Given the description of an element on the screen output the (x, y) to click on. 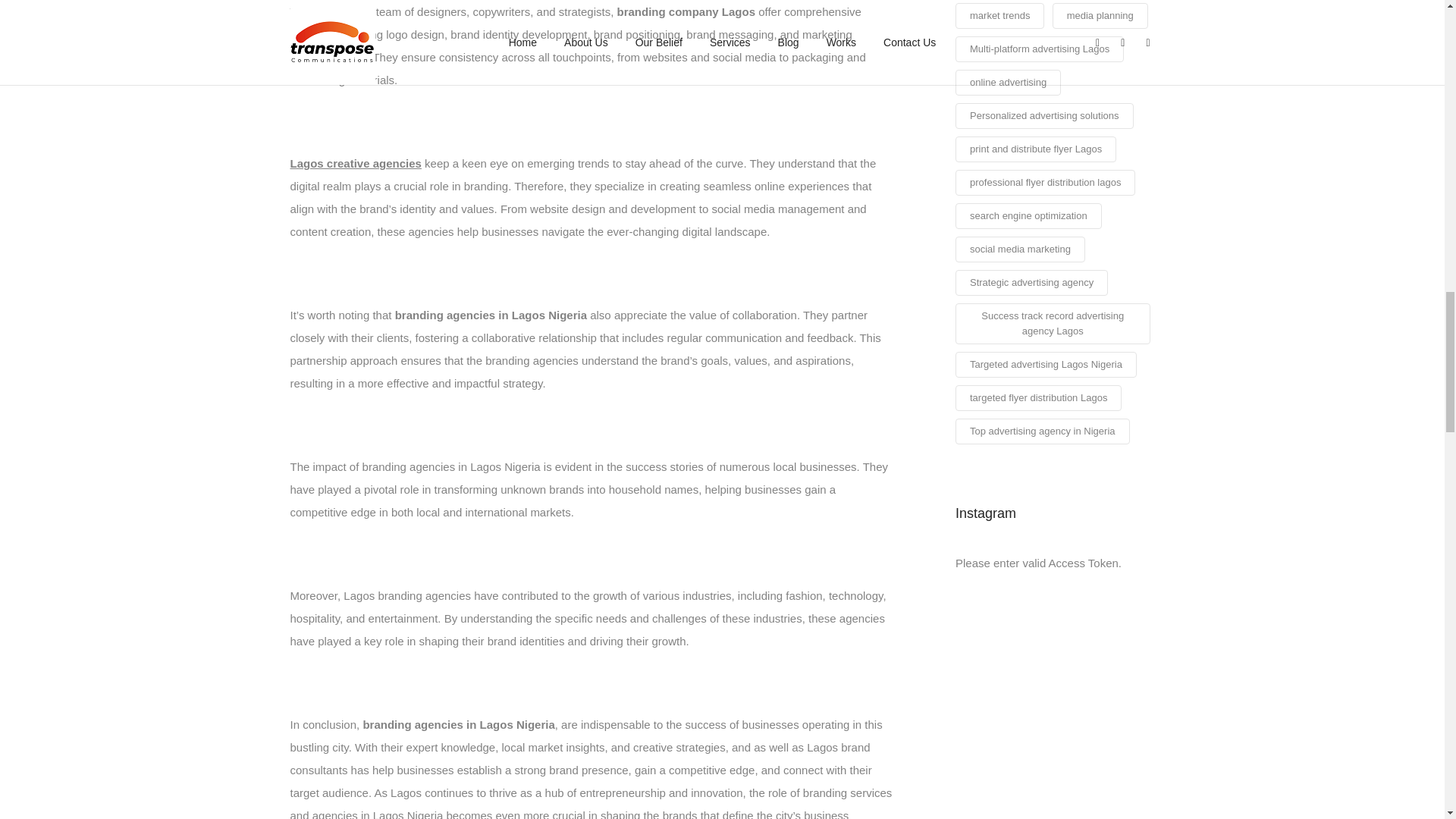
Lagos creative agencies (354, 163)
